Given the description of an element on the screen output the (x, y) to click on. 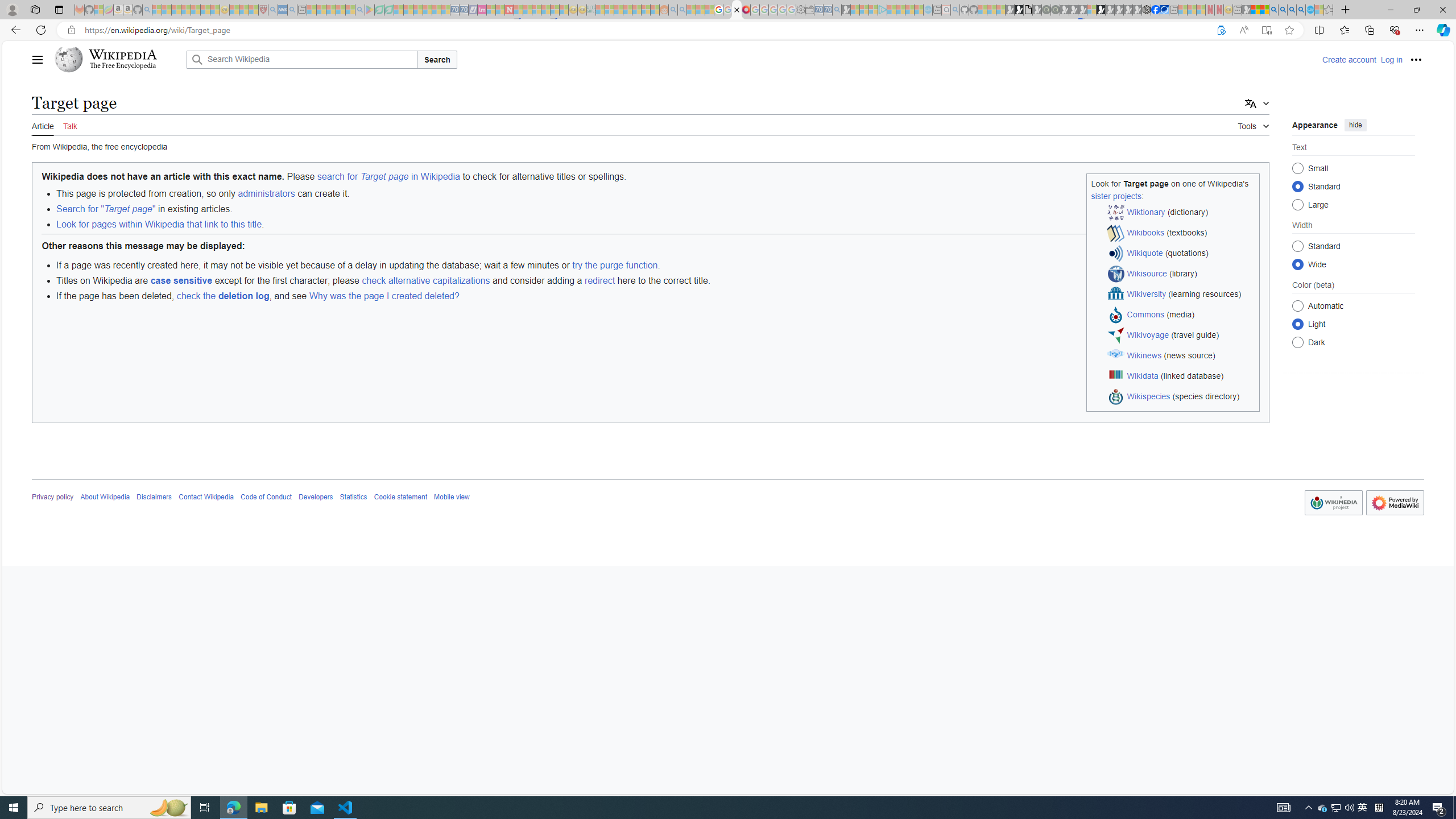
Wikibooks (1145, 232)
Sign in to your account - Sleeping (1090, 9)
Wikidata (1142, 375)
Powered by MediaWiki (1394, 502)
Small (1297, 167)
Wikispecies (1148, 396)
Contact Wikipedia (206, 496)
